Given the description of an element on the screen output the (x, y) to click on. 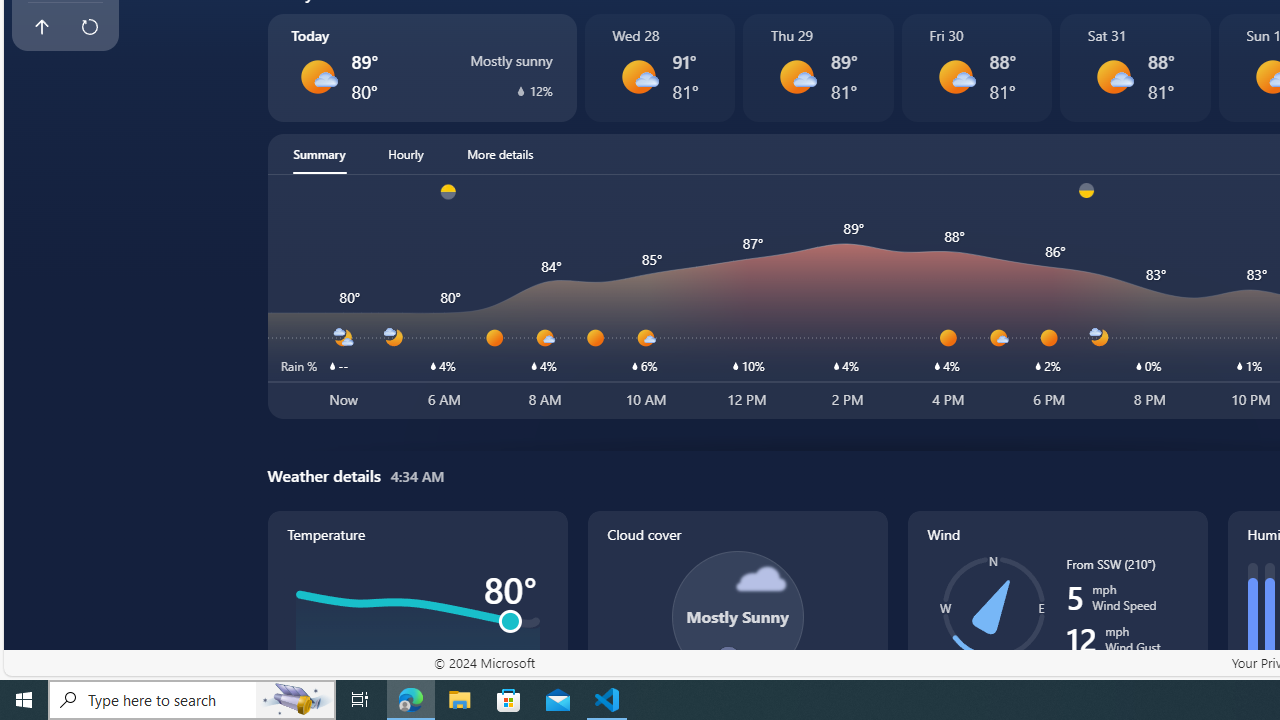
Back to top (41, 26)
More details (500, 153)
Mostly sunny (1114, 76)
Precipitation (520, 90)
Summary (319, 153)
